Given the description of an element on the screen output the (x, y) to click on. 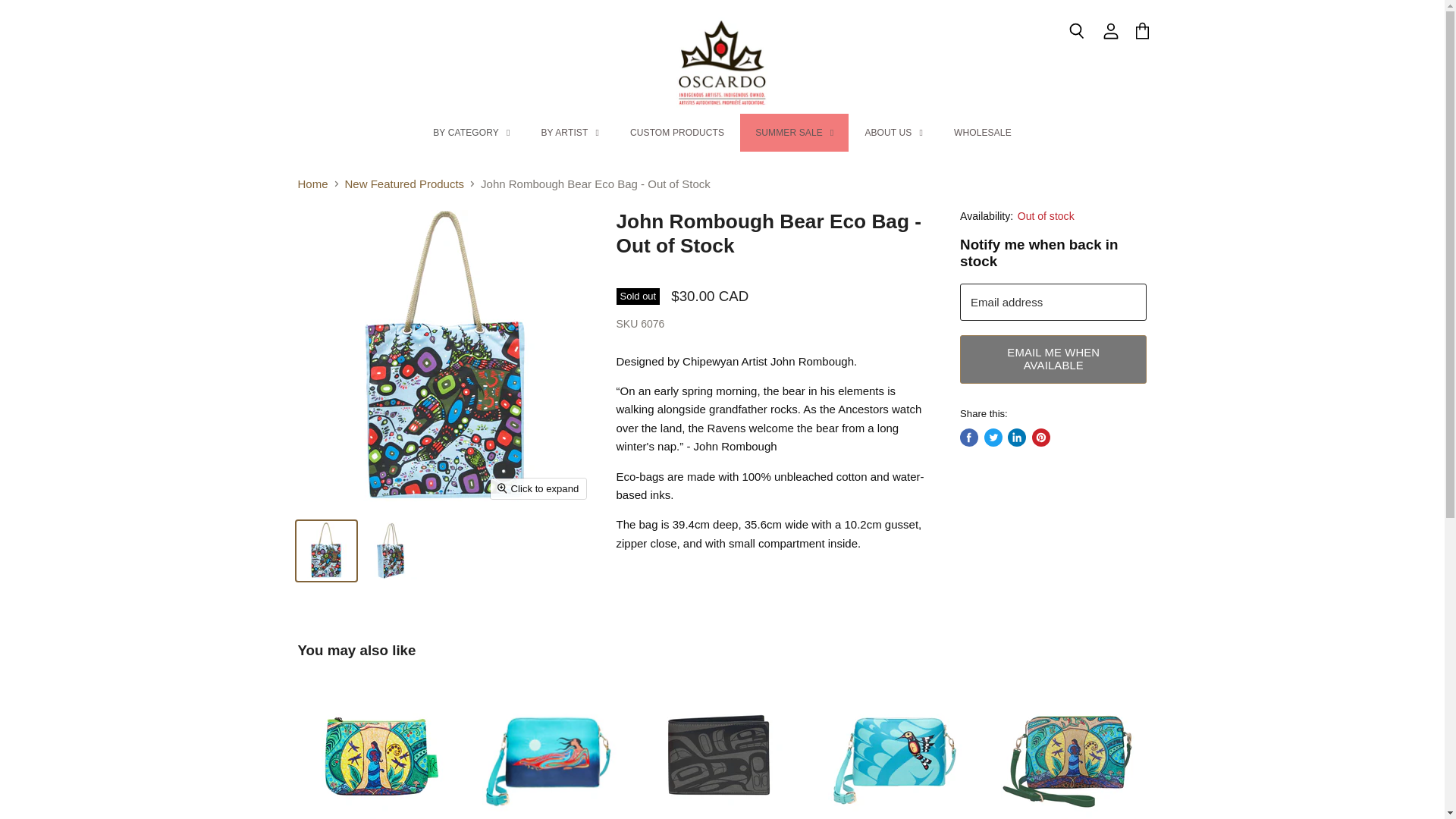
BY CATEGORY (470, 132)
BY CATEGORY (470, 132)
